Given the description of an element on the screen output the (x, y) to click on. 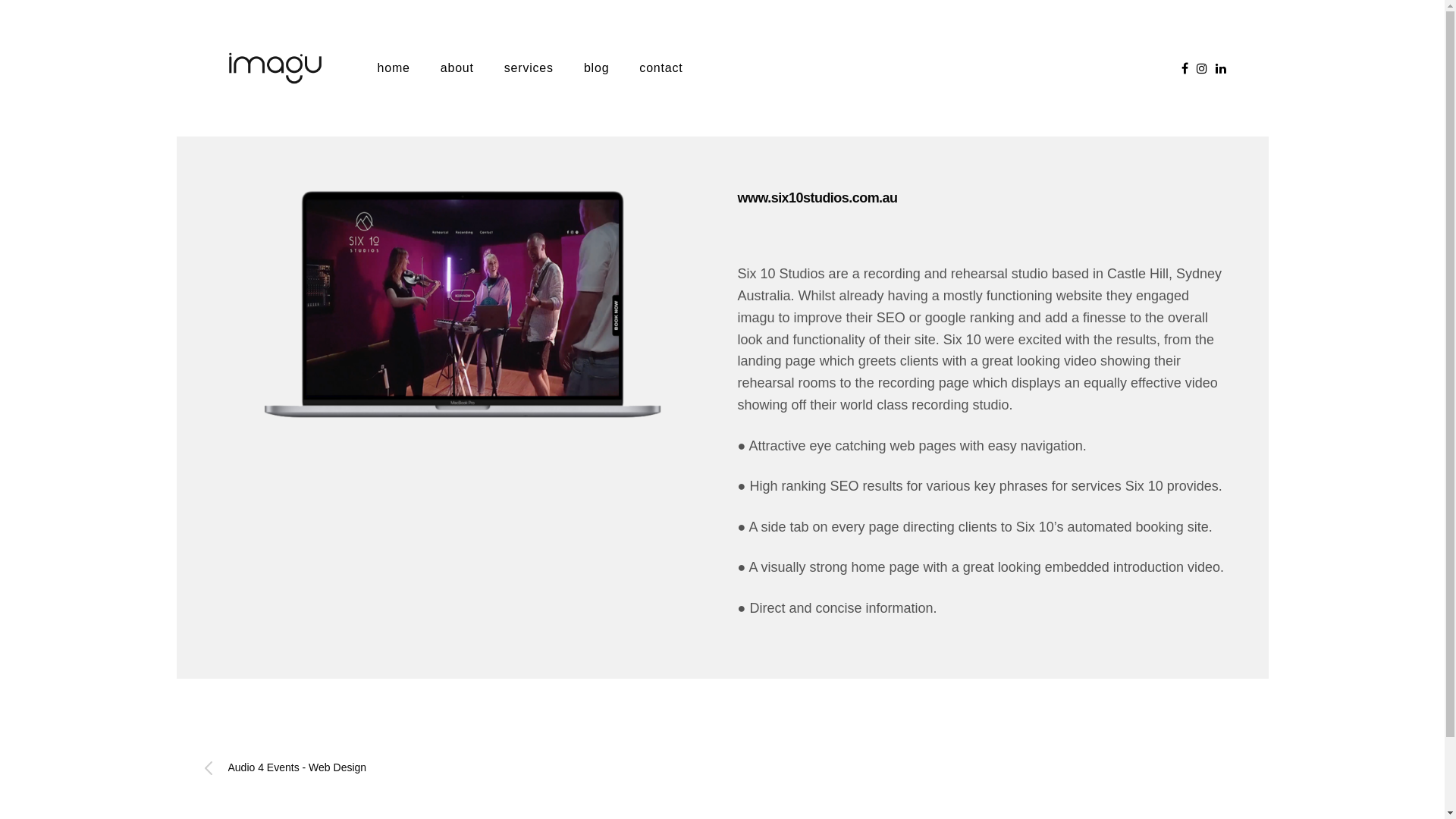
best web designs Sydney Australia Element type: hover (462, 306)
services Element type: text (528, 68)
www.six10studios.com.au Element type: text (817, 198)
home Element type: text (393, 68)
blog Element type: text (595, 68)
Audio 4 Events - Web Design Element type: text (462, 767)
contact Element type: text (660, 68)
about Element type: text (456, 68)
imagu Element type: hover (275, 68)
